Given the description of an element on the screen output the (x, y) to click on. 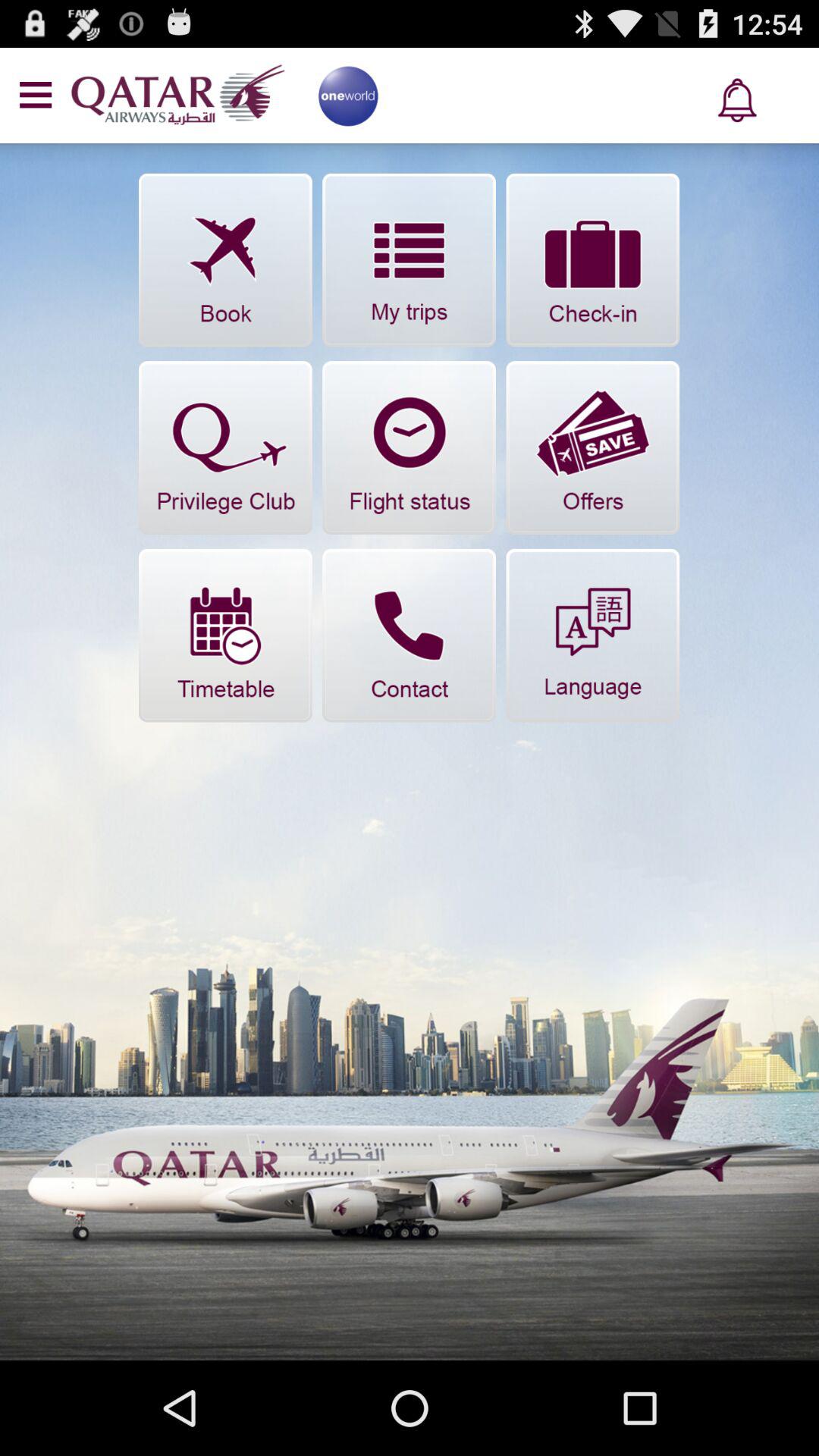
check status of flight (408, 447)
